Given the description of an element on the screen output the (x, y) to click on. 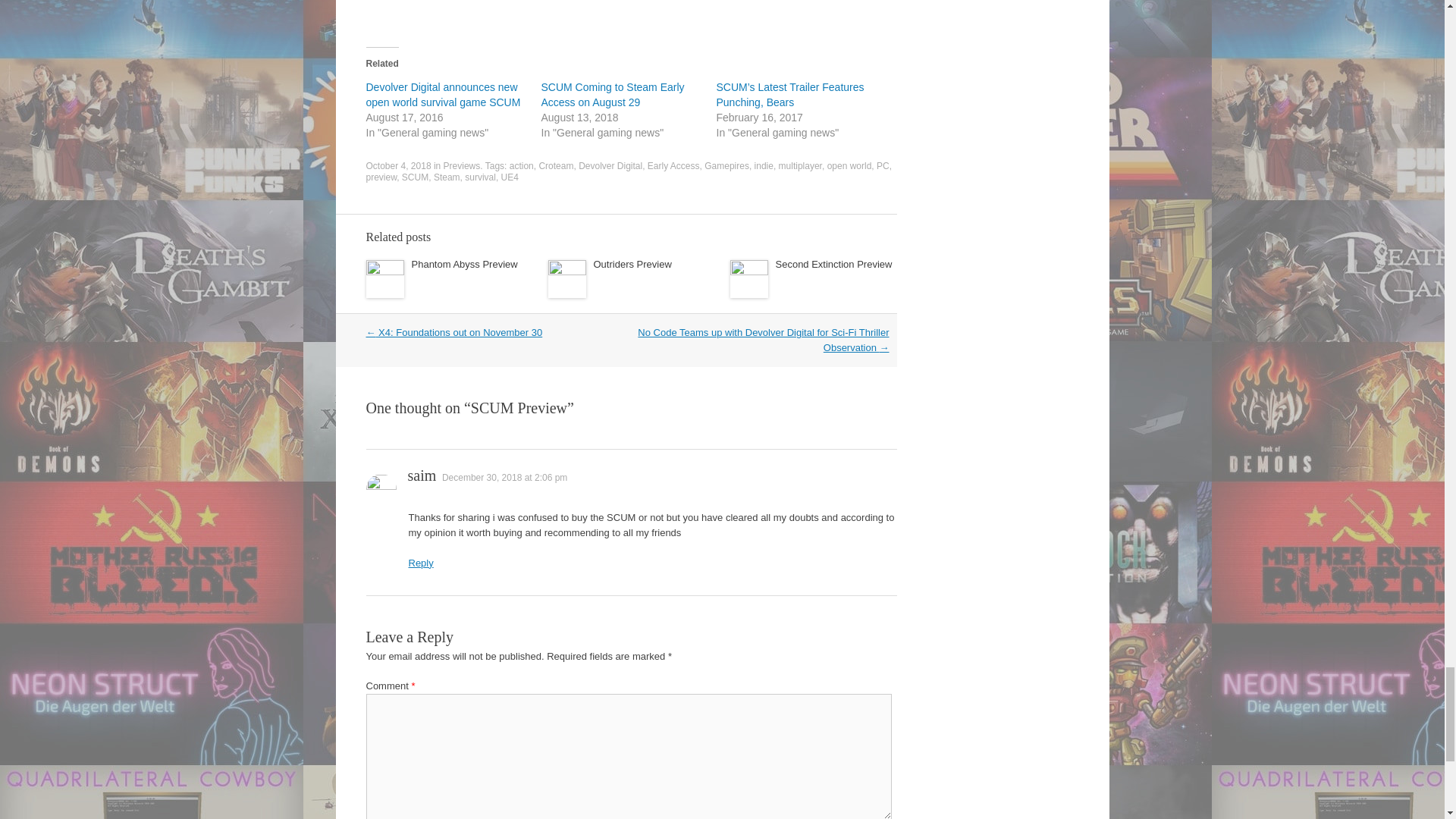
SCUM Coming to Steam Early Access on August 29 (612, 94)
PC (882, 165)
Gamepires (726, 165)
Permalink to Second Extinction Preview (832, 264)
survival (480, 176)
Steam (446, 176)
Phantom Abyss Preview (463, 264)
preview (380, 176)
Permalink to Outriders Preview (631, 264)
October 4, 2018 (397, 165)
multiplayer (800, 165)
open world (849, 165)
Devolver Digital (610, 165)
Devolver Digital announces new open world survival game SCUM (442, 94)
Previews (462, 165)
